Given the description of an element on the screen output the (x, y) to click on. 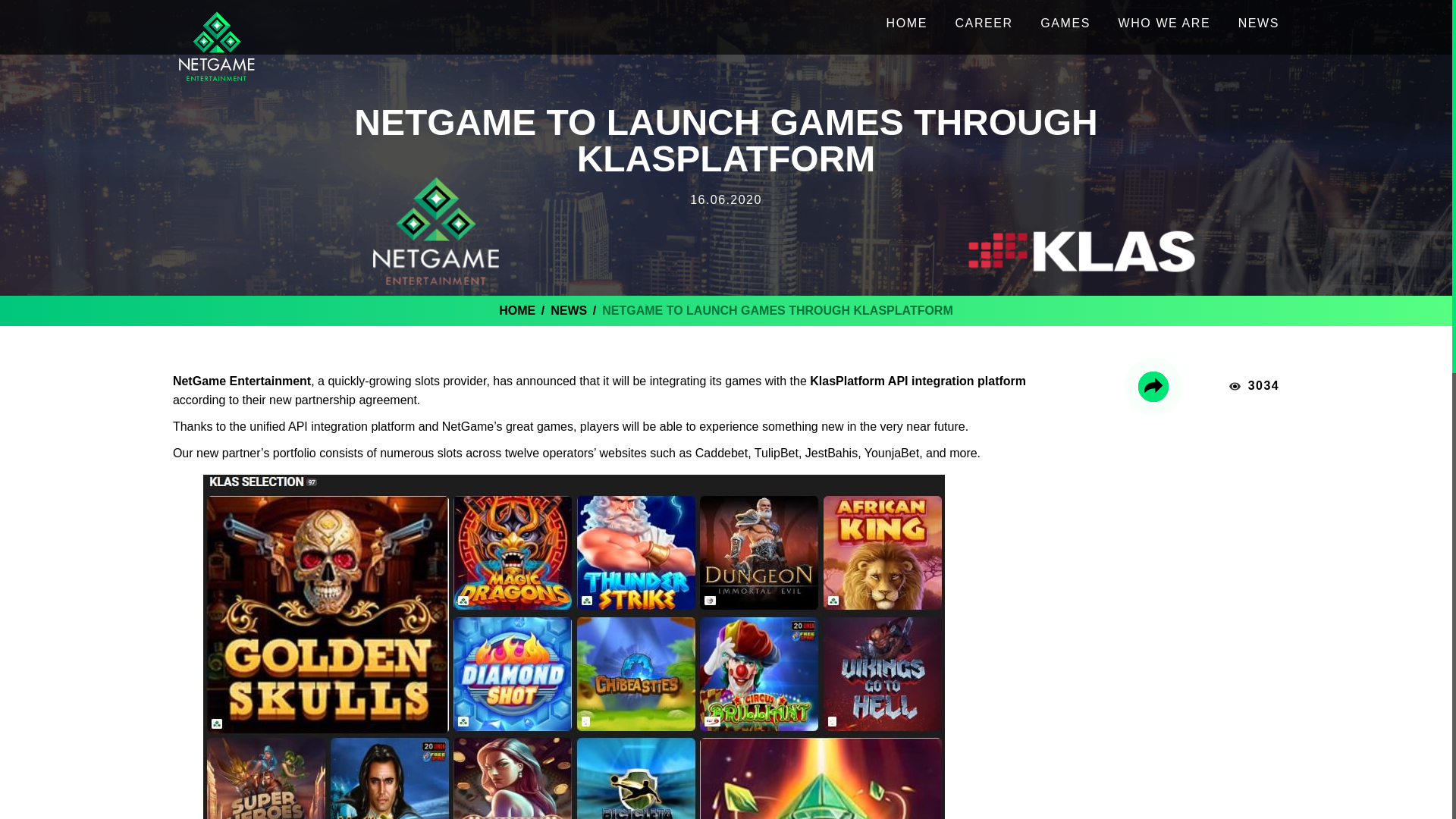
HOME (906, 24)
NEWS (568, 309)
WHO WE ARE (1163, 24)
HOME (517, 309)
Sharing post in Twitter (1153, 386)
NetGame to Launch Games through KlasPlatform (777, 309)
CAREER (983, 24)
NEWS (1259, 24)
GAMES (1065, 24)
